Given the description of an element on the screen output the (x, y) to click on. 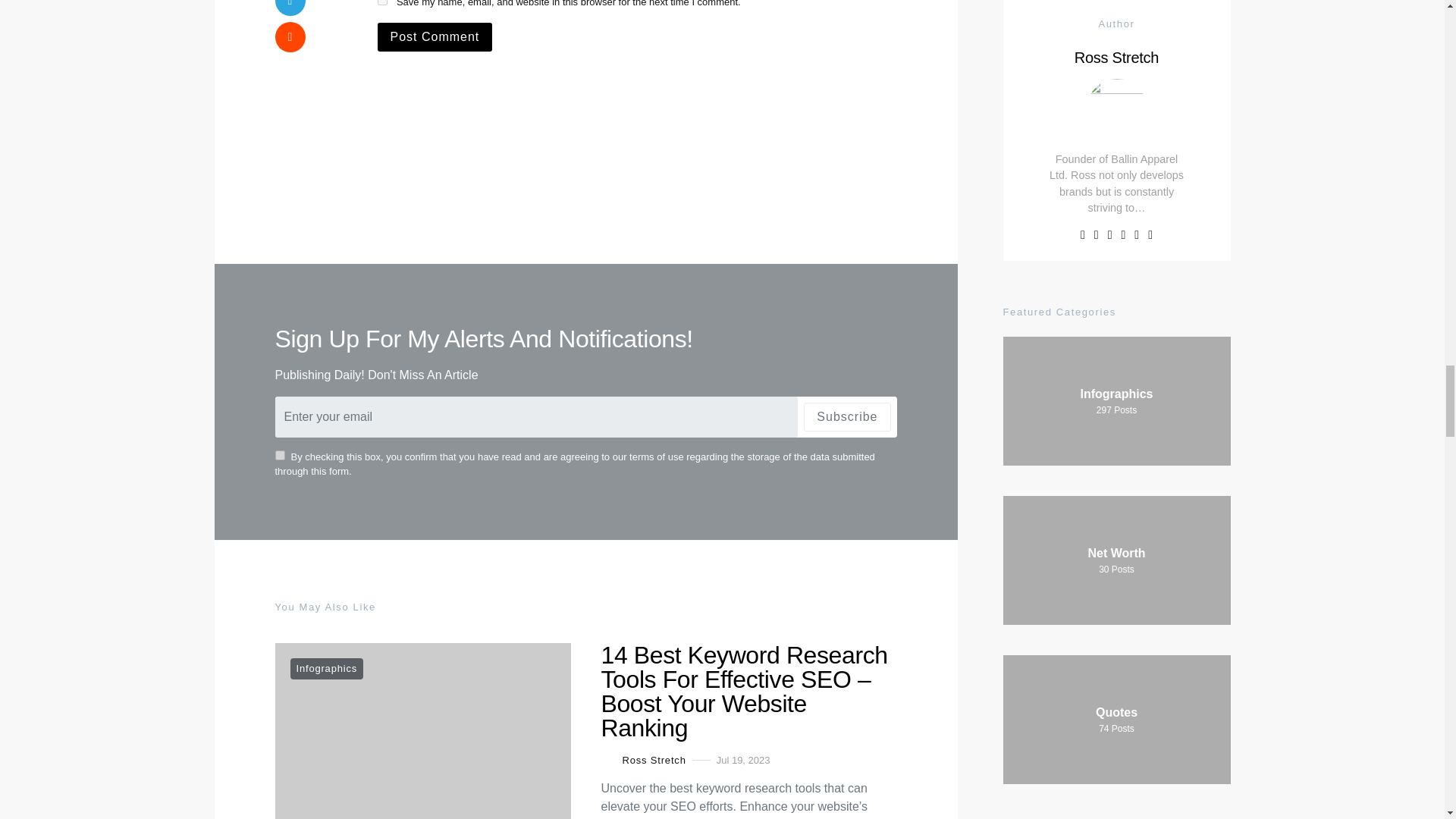
on (279, 455)
Post Comment (435, 36)
View all posts by Ross Stretch (642, 759)
yes (382, 2)
